Given the description of an element on the screen output the (x, y) to click on. 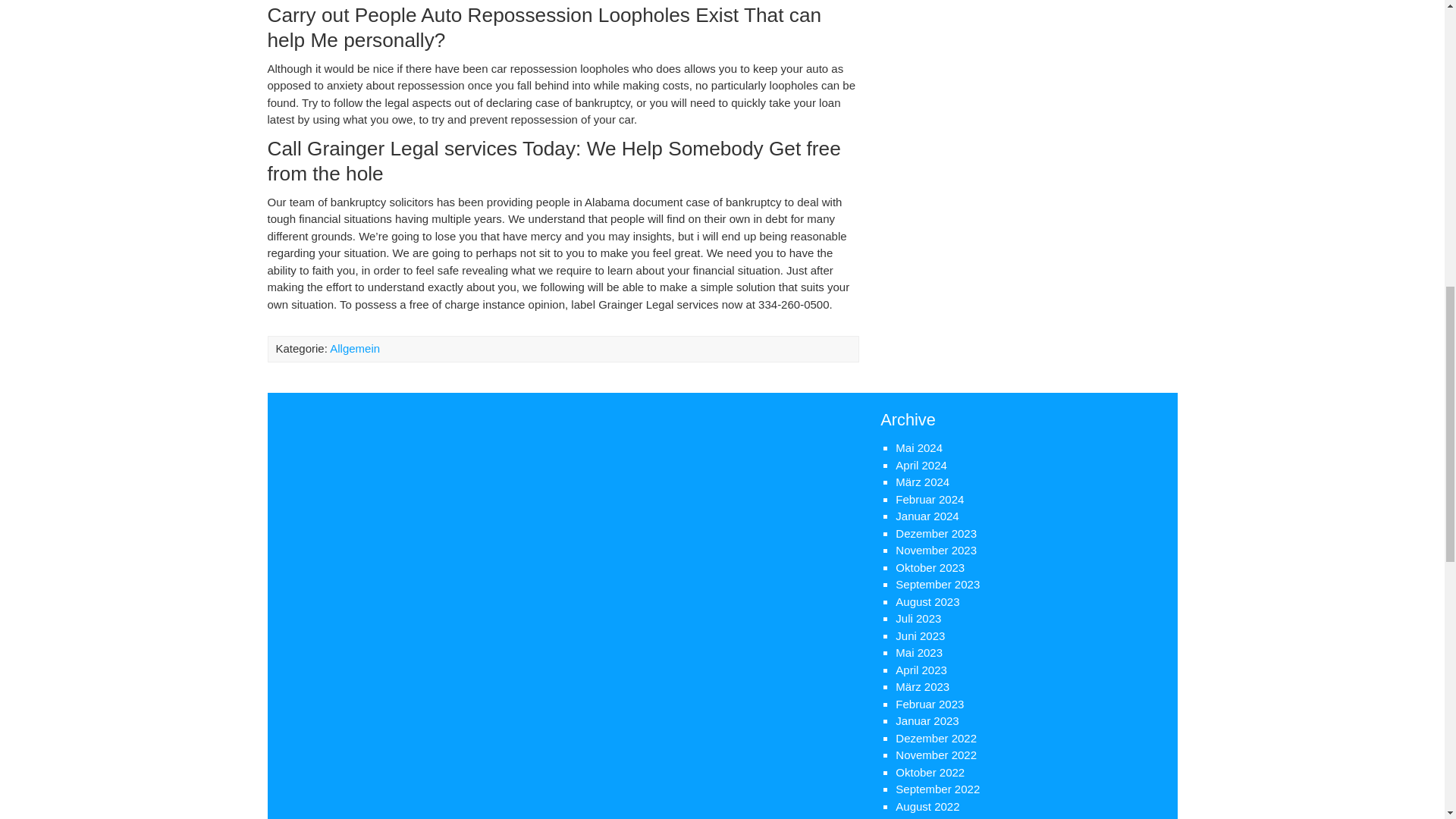
Februar 2024 (929, 499)
Juli 2023 (917, 617)
April 2023 (921, 669)
April 2024 (921, 464)
Mai 2023 (918, 652)
September 2023 (937, 584)
Januar 2023 (926, 720)
Allgemein (355, 348)
Juni 2023 (919, 635)
August 2023 (927, 601)
